Given the description of an element on the screen output the (x, y) to click on. 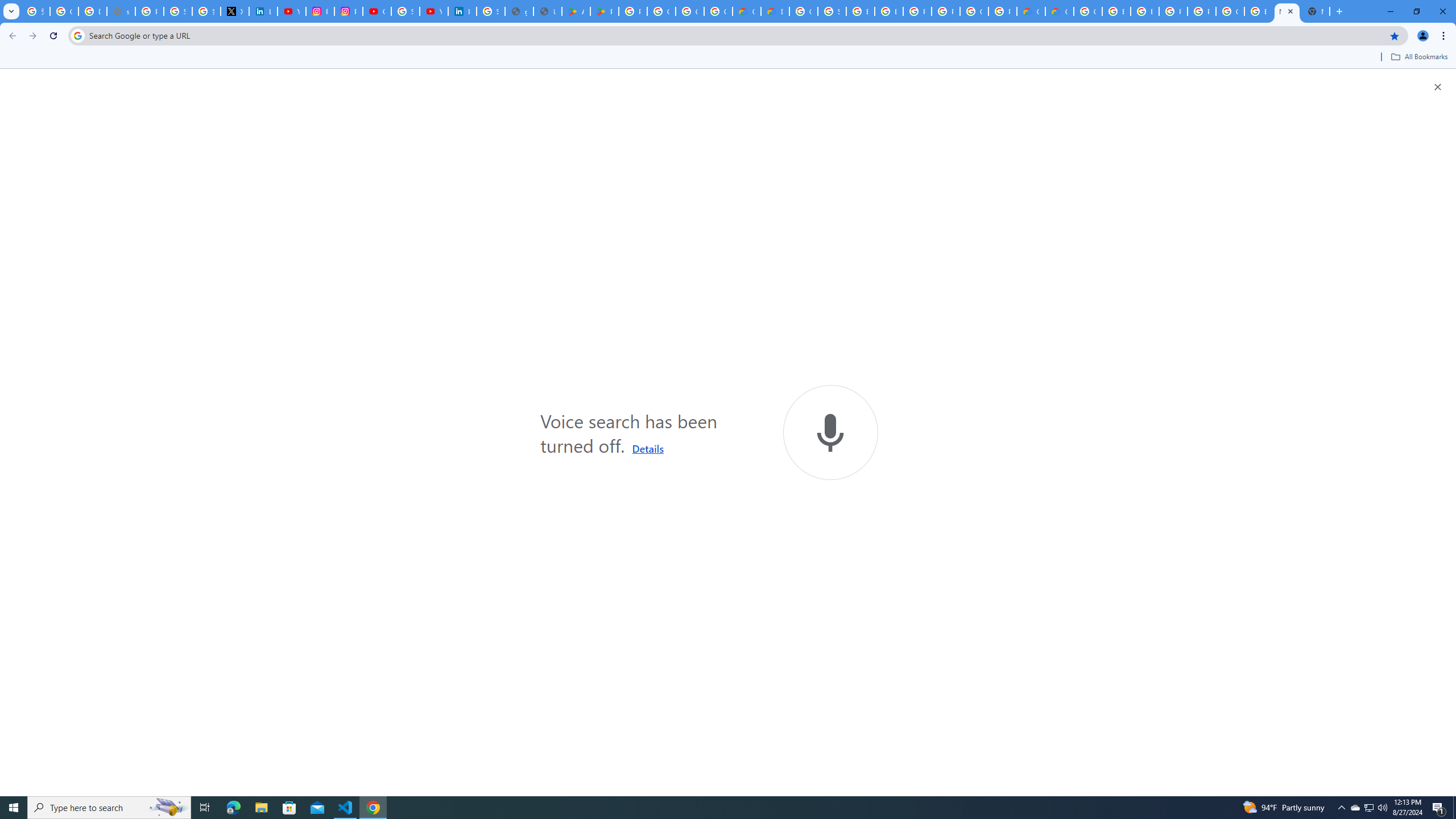
Google Cloud Platform (1088, 11)
Customer Care | Google Cloud (1030, 11)
Browse Chrome as a guest - Computer - Google Chrome Help (860, 11)
Google Workspace - Specific Terms (690, 11)
X (234, 11)
Browse Chrome as a guest - Computer - Google Chrome Help (888, 11)
LinkedIn Privacy Policy (263, 11)
PAW Patrol Rescue World - Apps on Google Play (604, 11)
Google Cloud Platform (1230, 11)
